Given the description of an element on the screen output the (x, y) to click on. 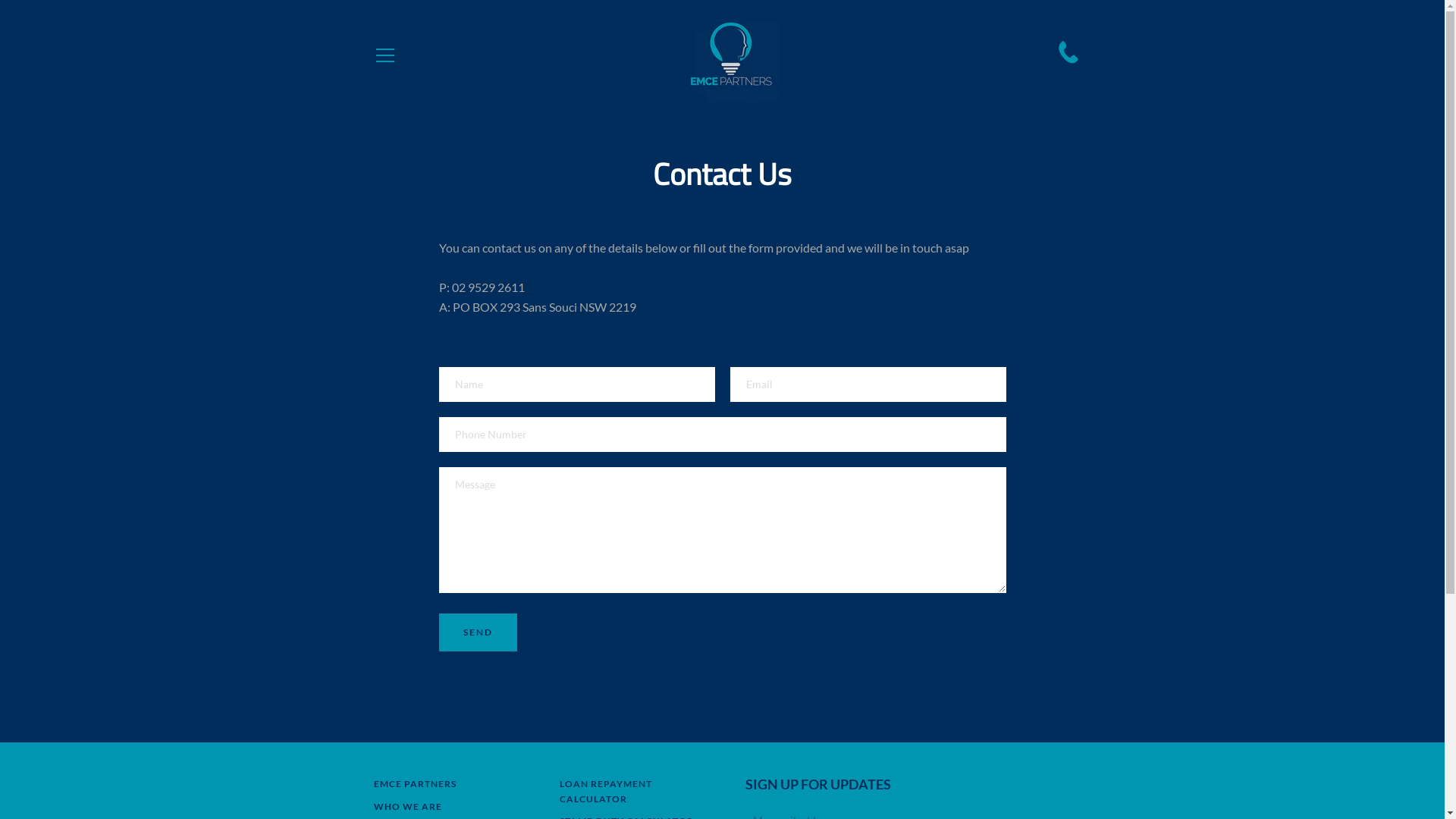
LOAN REPAYMENT CALCULATOR Element type: text (605, 791)
Send Element type: text (477, 632)
EXPAND NAVIGATION Element type: text (384, 55)
EMCE PARTNERS Element type: text (414, 783)
Skip to content Element type: text (0, 0)
WHO WE ARE Element type: text (407, 806)
